Given the description of an element on the screen output the (x, y) to click on. 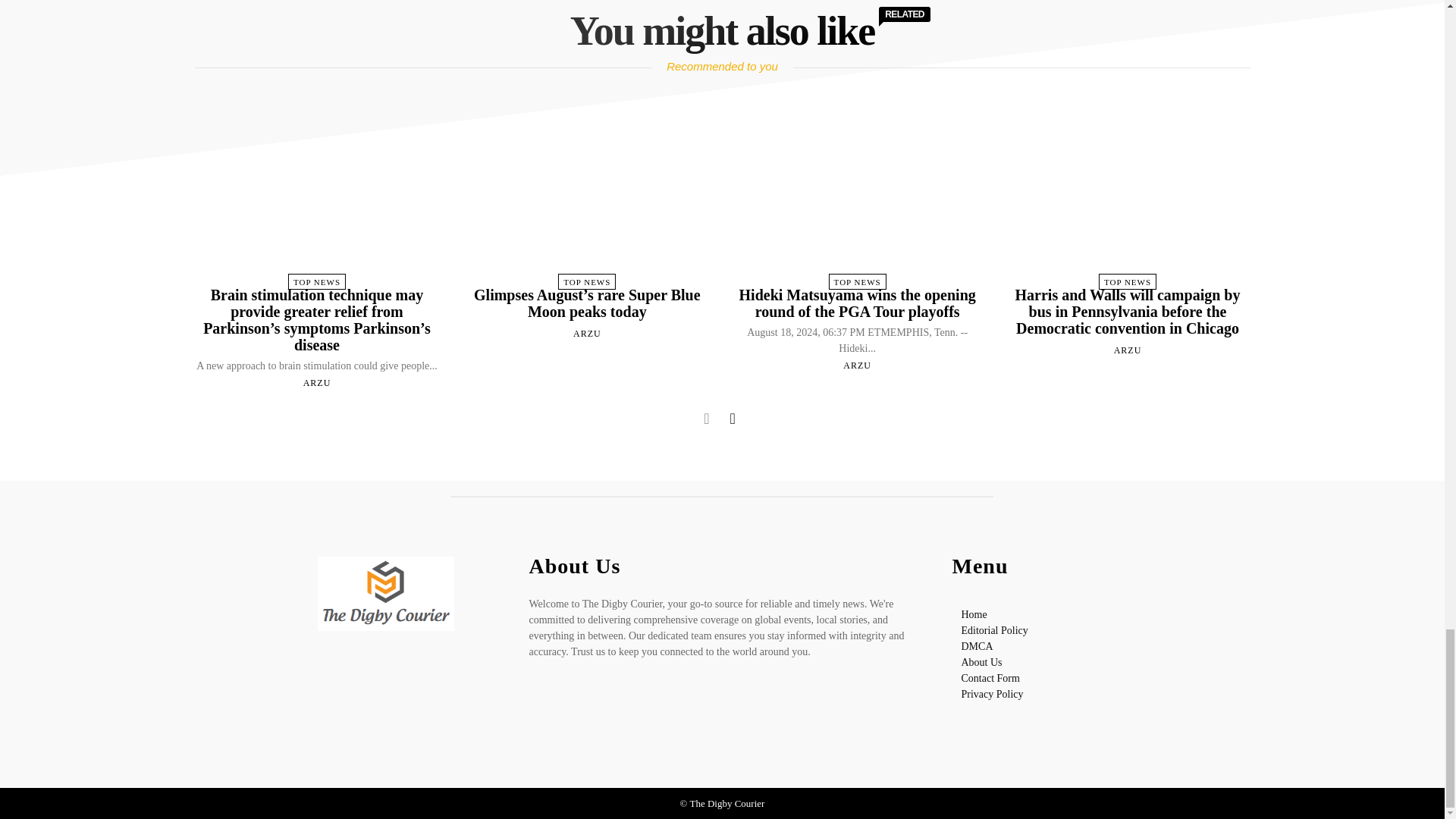
TOP NEWS (317, 281)
TOP NEWS (586, 281)
ARZU (316, 382)
ARZU (587, 333)
